Given the description of an element on the screen output the (x, y) to click on. 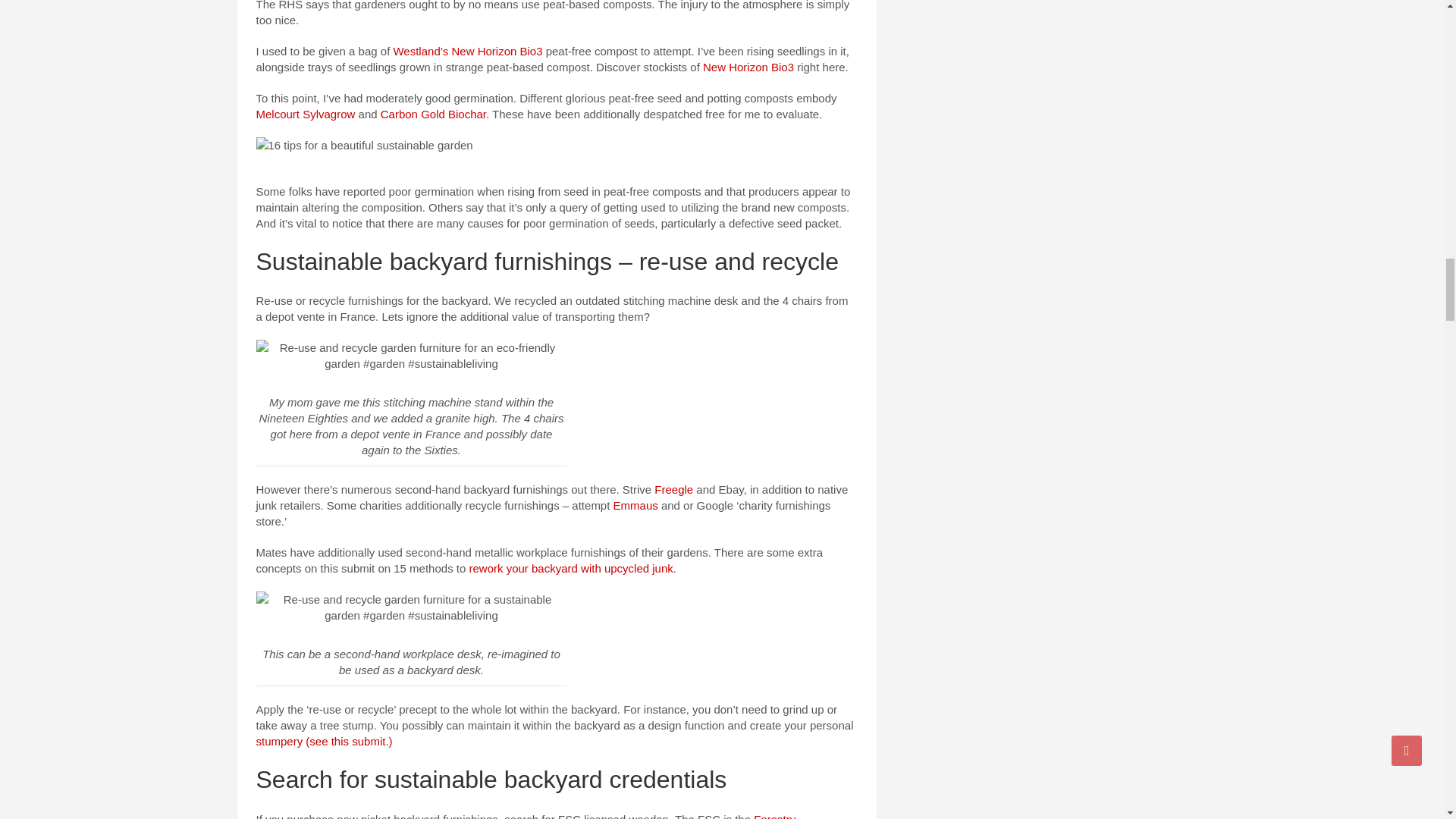
New Horizon Bio3 (748, 66)
Freegle (673, 489)
Melcourt Sylvagrow (305, 113)
Carbon Gold Biochar (433, 113)
